Given the description of an element on the screen output the (x, y) to click on. 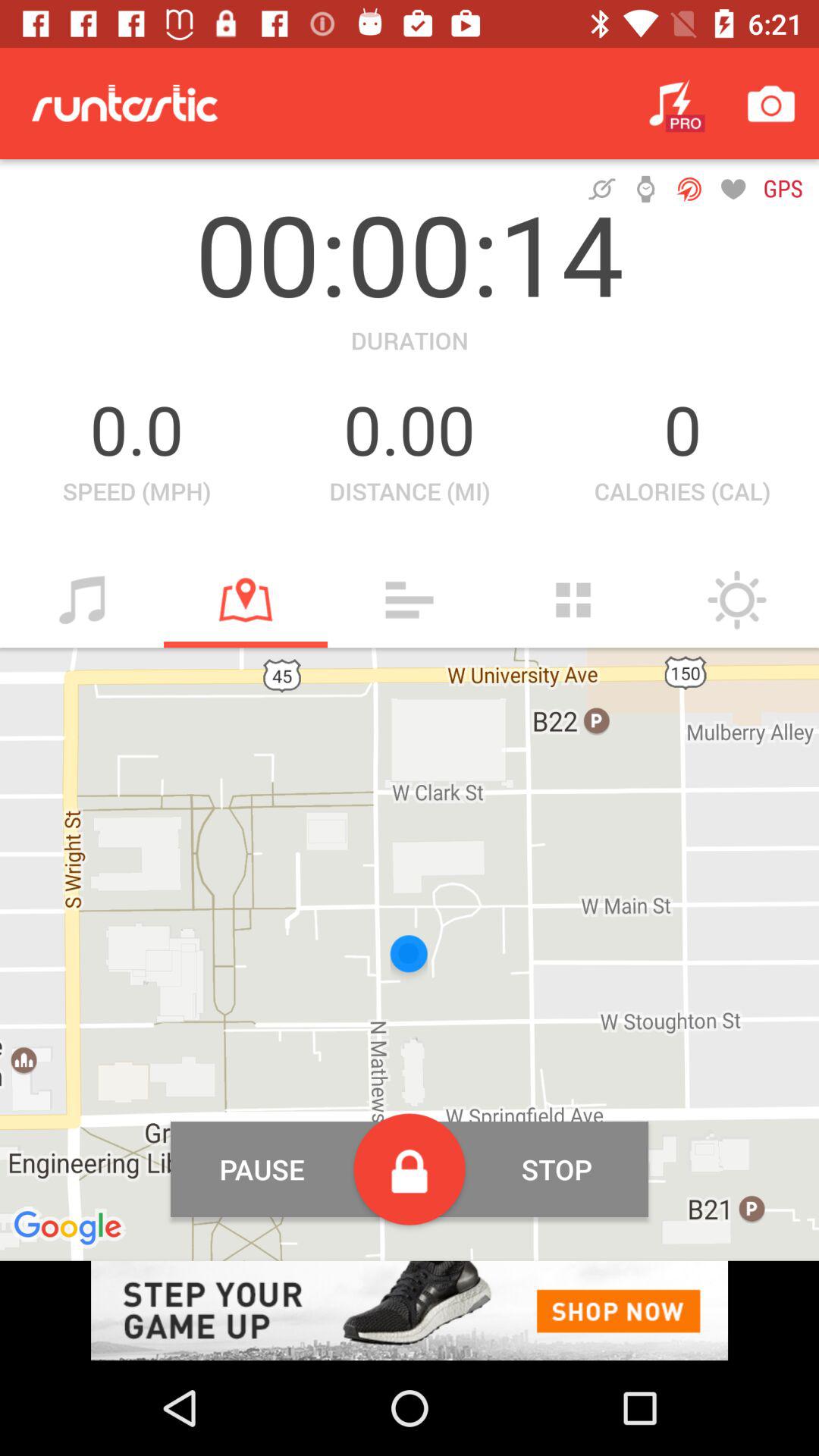
more option (573, 599)
